Given the description of an element on the screen output the (x, y) to click on. 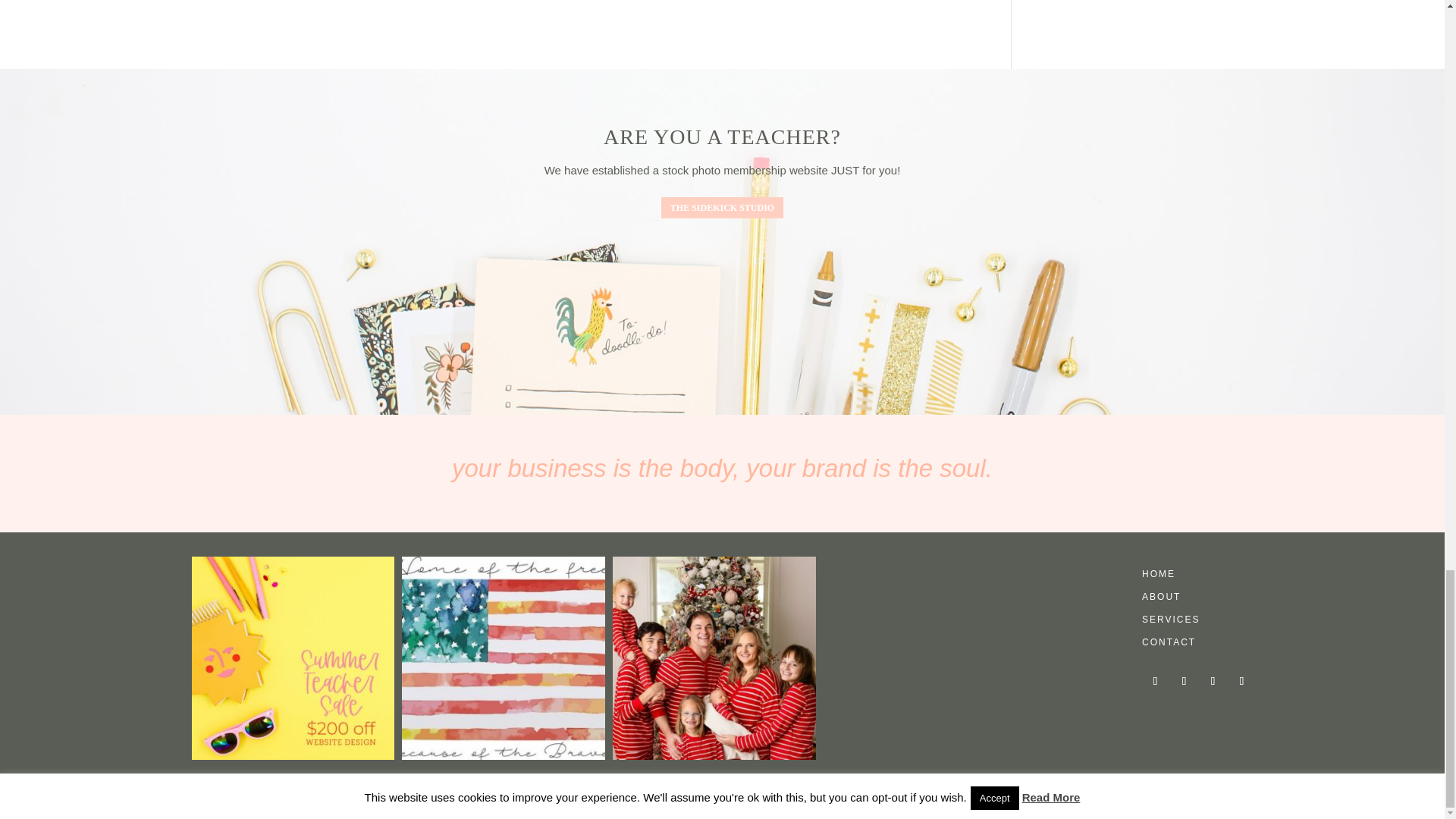
Follow on TikTok (1241, 680)
Follow on Pinterest (1183, 680)
Follow on Facebook (1154, 680)
Follow on Instagram (1212, 680)
